Given the description of an element on the screen output the (x, y) to click on. 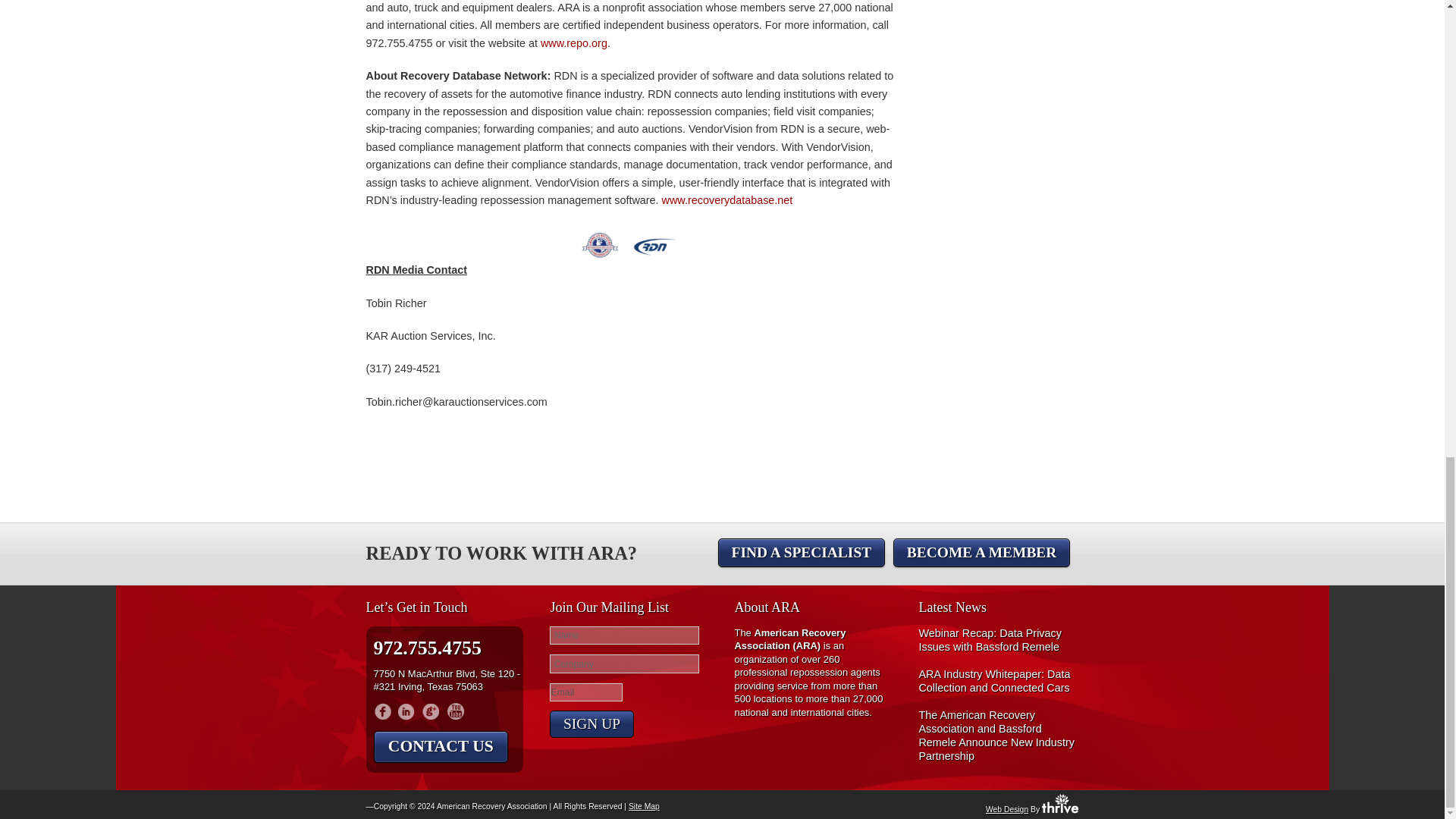
Sign Up (591, 723)
Name (624, 635)
Email (586, 692)
Company (624, 663)
